Given the description of an element on the screen output the (x, y) to click on. 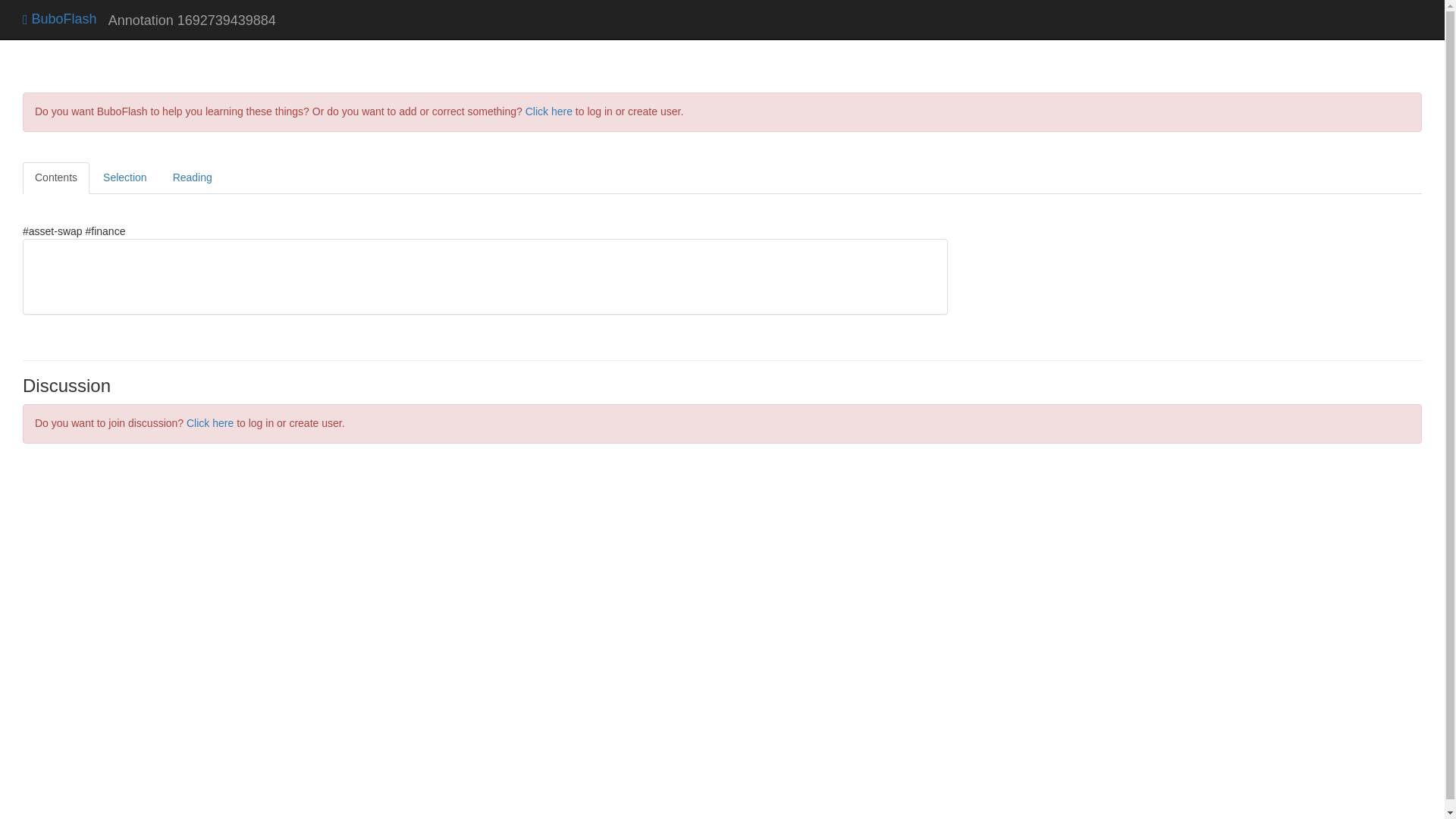
BuboFlash (60, 18)
Selection (124, 178)
Reading (192, 178)
Click here (548, 111)
Contents (55, 178)
Click here (209, 422)
